Given the description of an element on the screen output the (x, y) to click on. 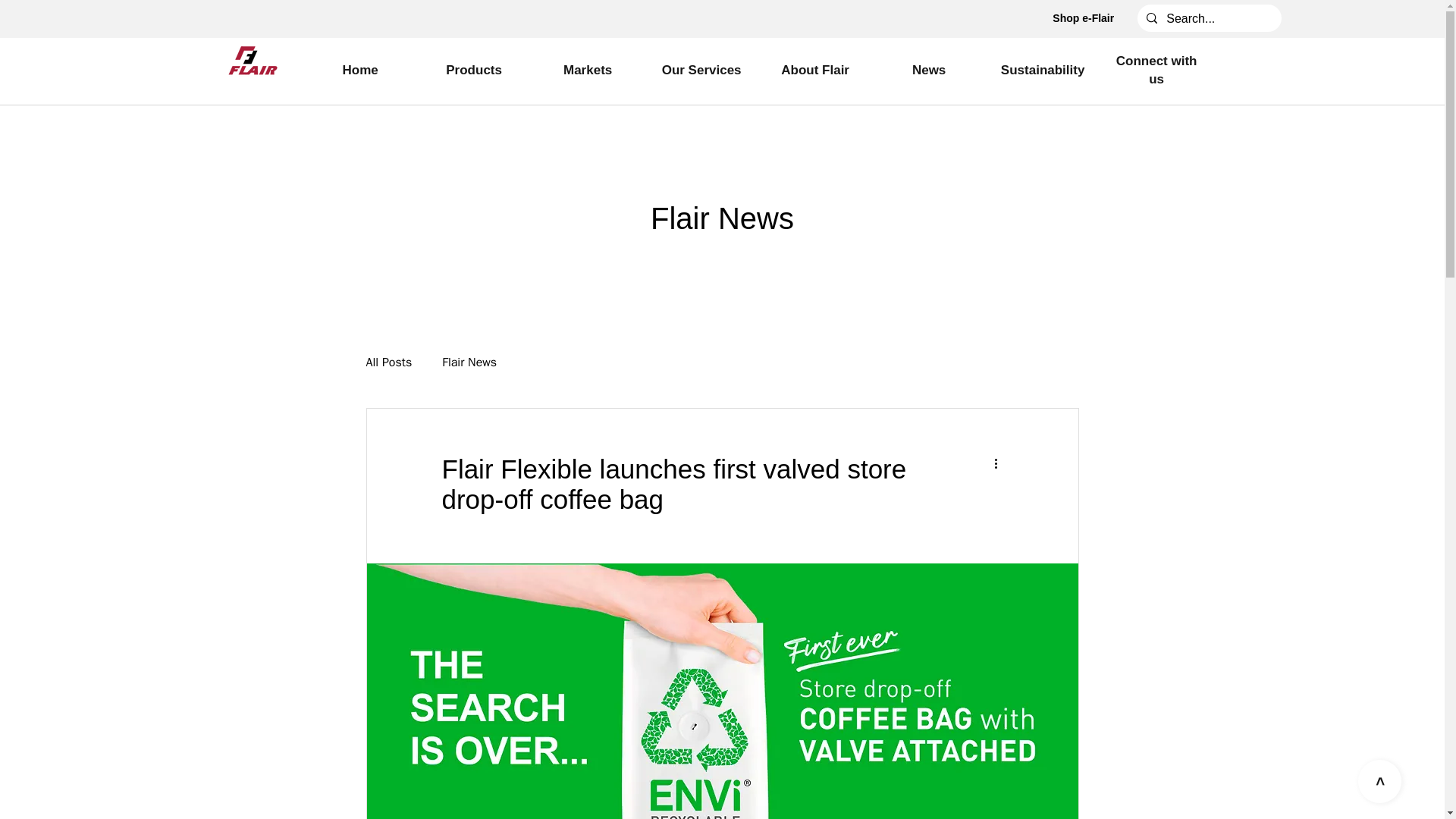
Our Services (701, 70)
All Posts (388, 362)
Markets (587, 70)
Sustainability (1042, 70)
News (928, 70)
Flair News (469, 362)
Products (473, 70)
Shop e-Flair (1083, 18)
Home (360, 70)
About Flair (814, 70)
